Given the description of an element on the screen output the (x, y) to click on. 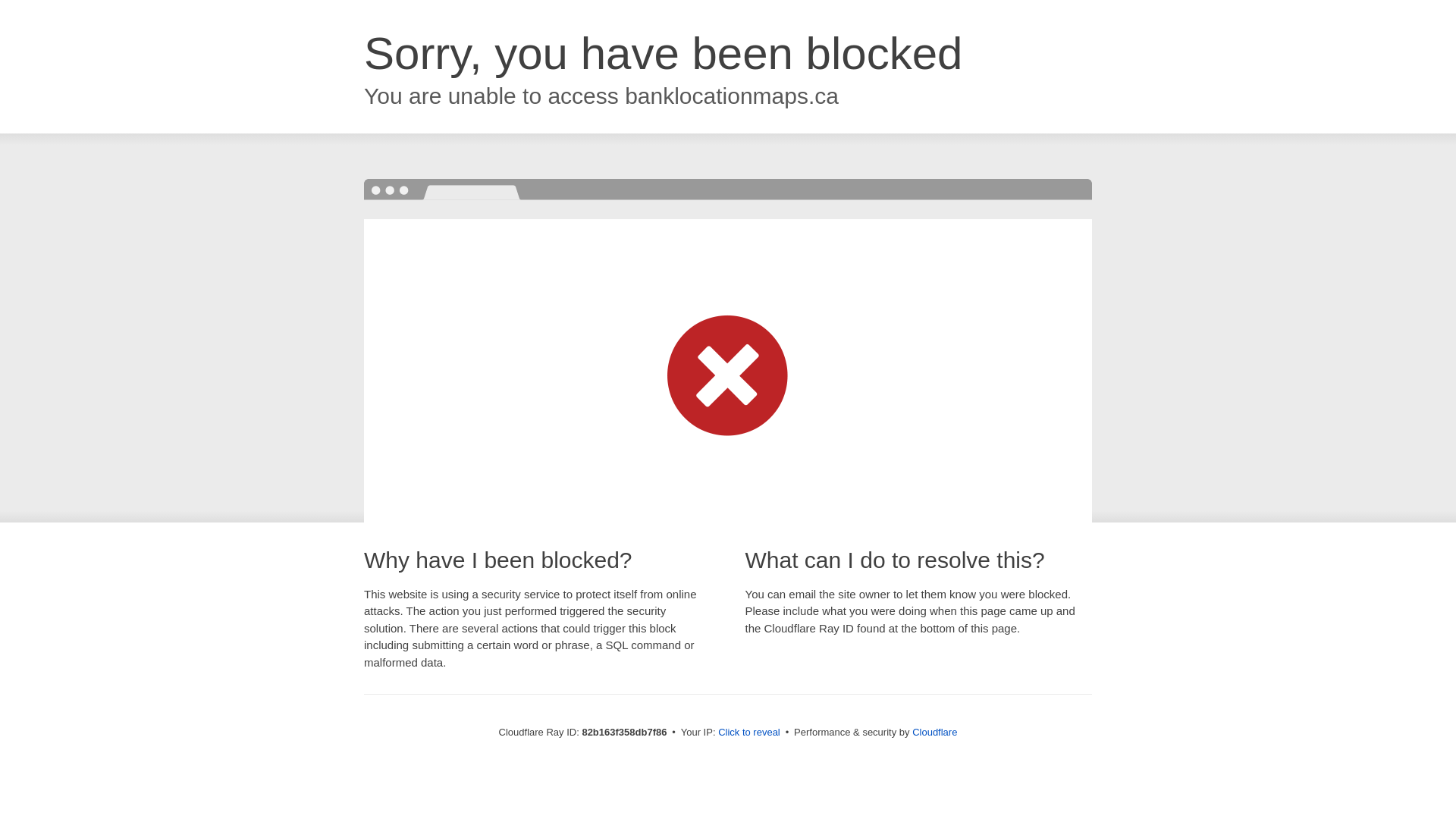
Cloudflare Element type: text (934, 731)
Click to reveal Element type: text (749, 732)
